Given the description of an element on the screen output the (x, y) to click on. 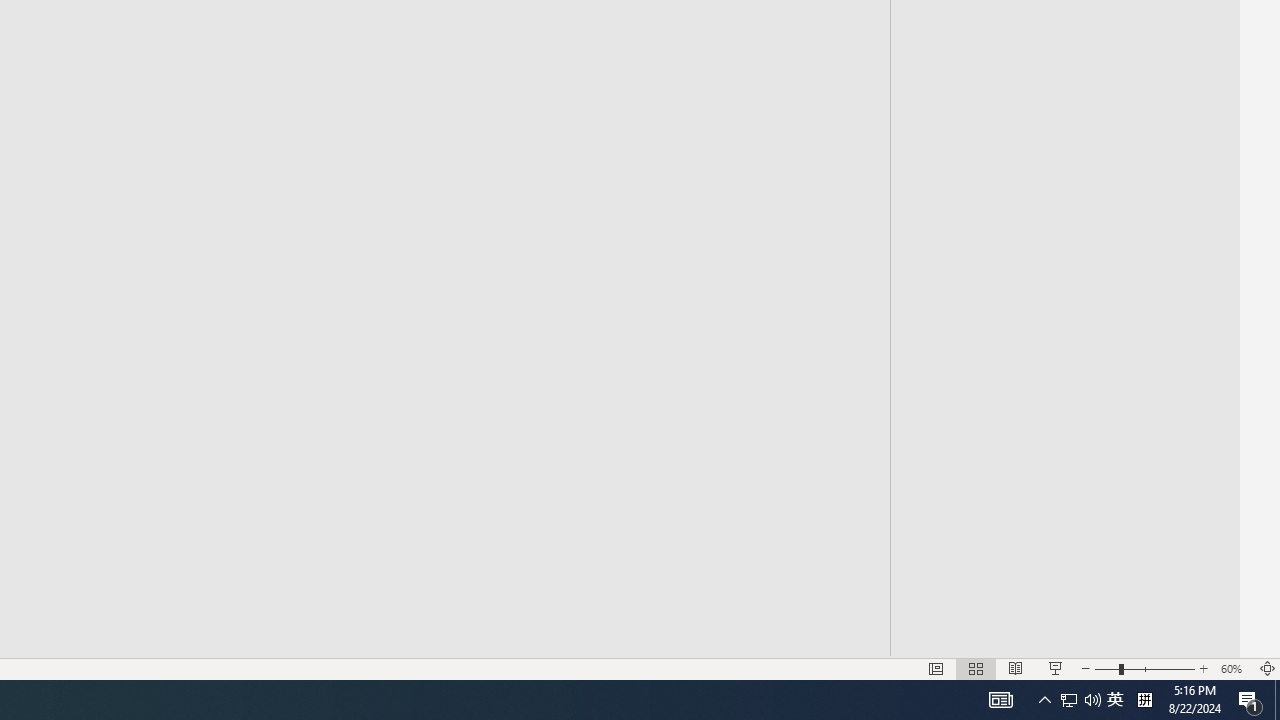
Zoom 60% (1234, 668)
